Given the description of an element on the screen output the (x, y) to click on. 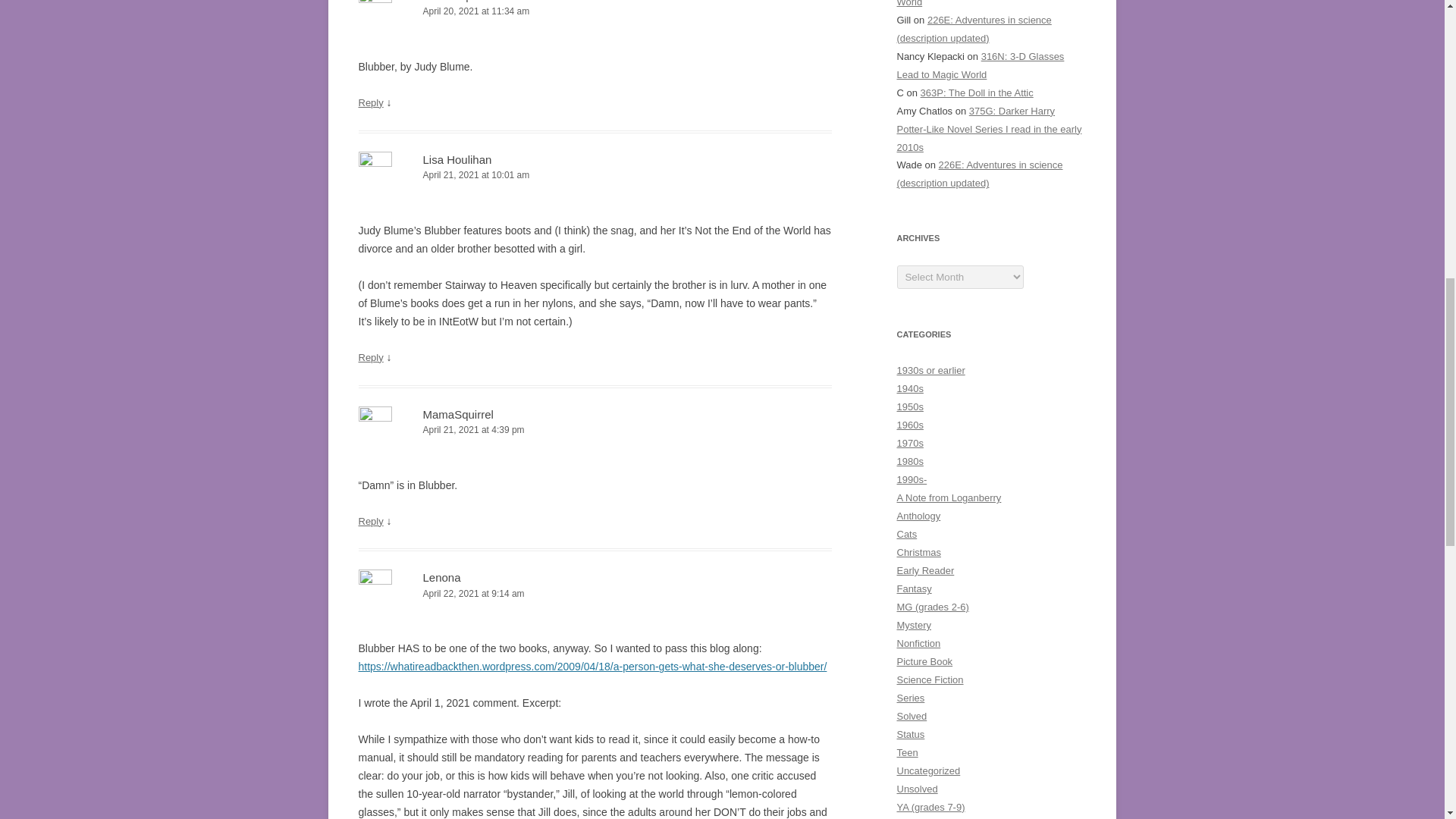
April 22, 2021 at 9:14 am (594, 593)
Reply (370, 102)
April 21, 2021 at 4:39 pm (594, 430)
Reply (370, 521)
April 21, 2021 at 10:01 am (594, 175)
Reply (370, 357)
April 20, 2021 at 11:34 am (594, 11)
